Given the description of an element on the screen output the (x, y) to click on. 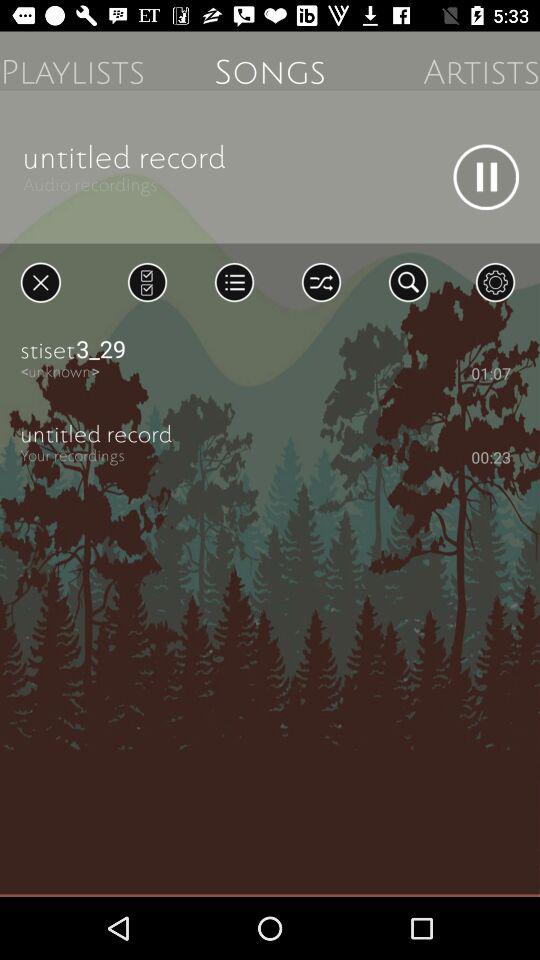
search button (408, 282)
